Given the description of an element on the screen output the (x, y) to click on. 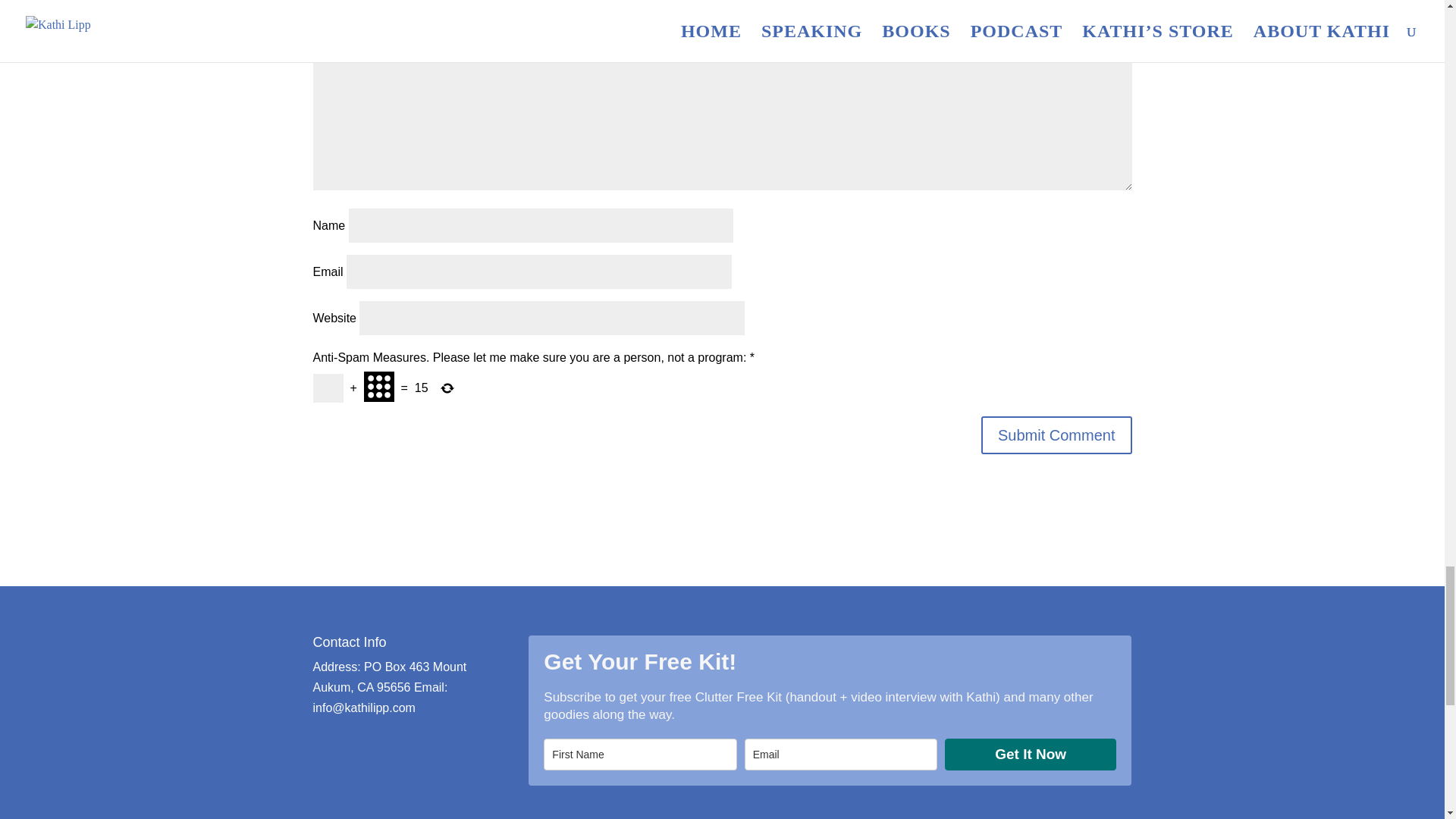
Submit Comment (1056, 435)
